Given the description of an element on the screen output the (x, y) to click on. 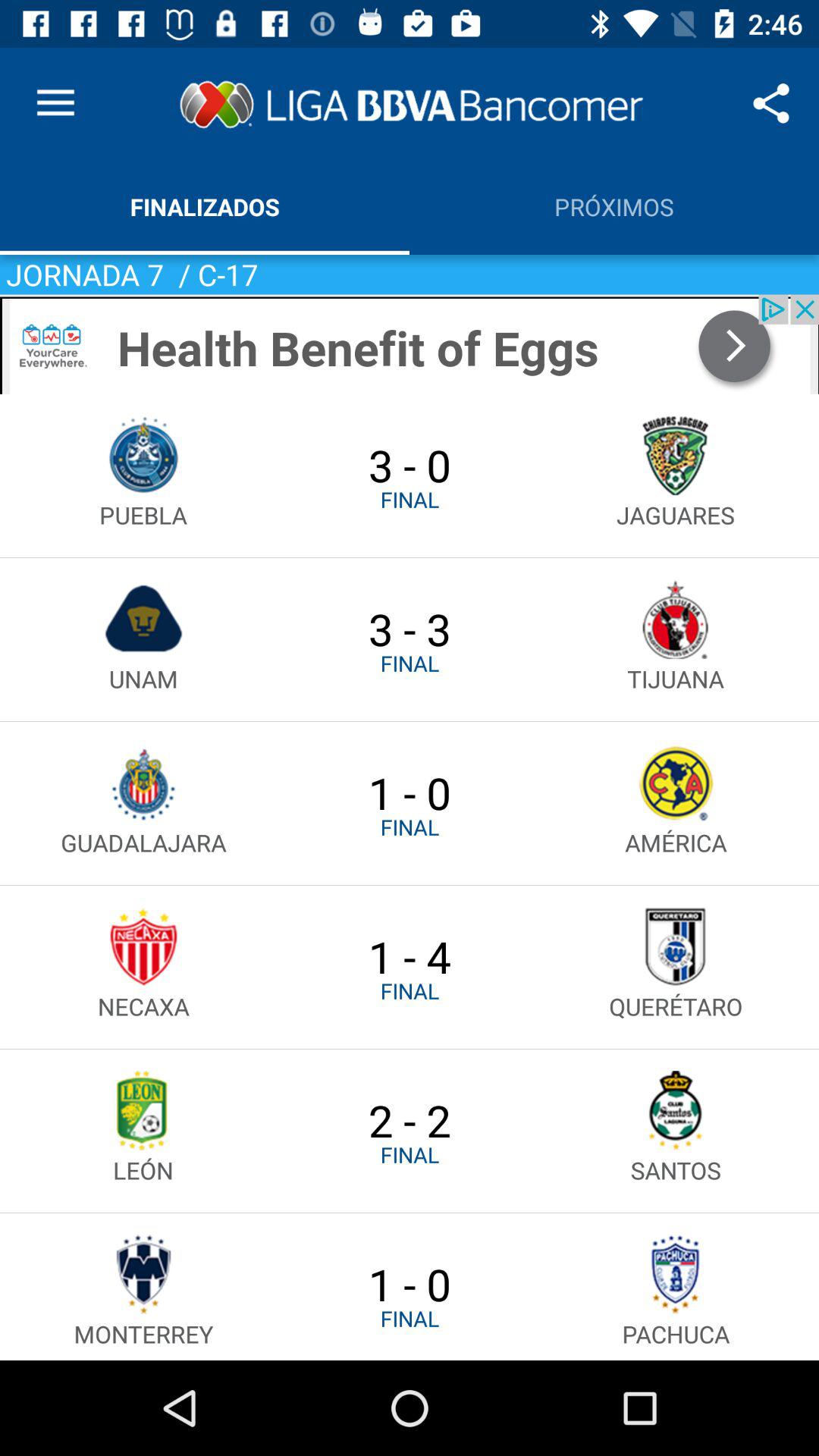
advertisement area (409, 344)
